Given the description of an element on the screen output the (x, y) to click on. 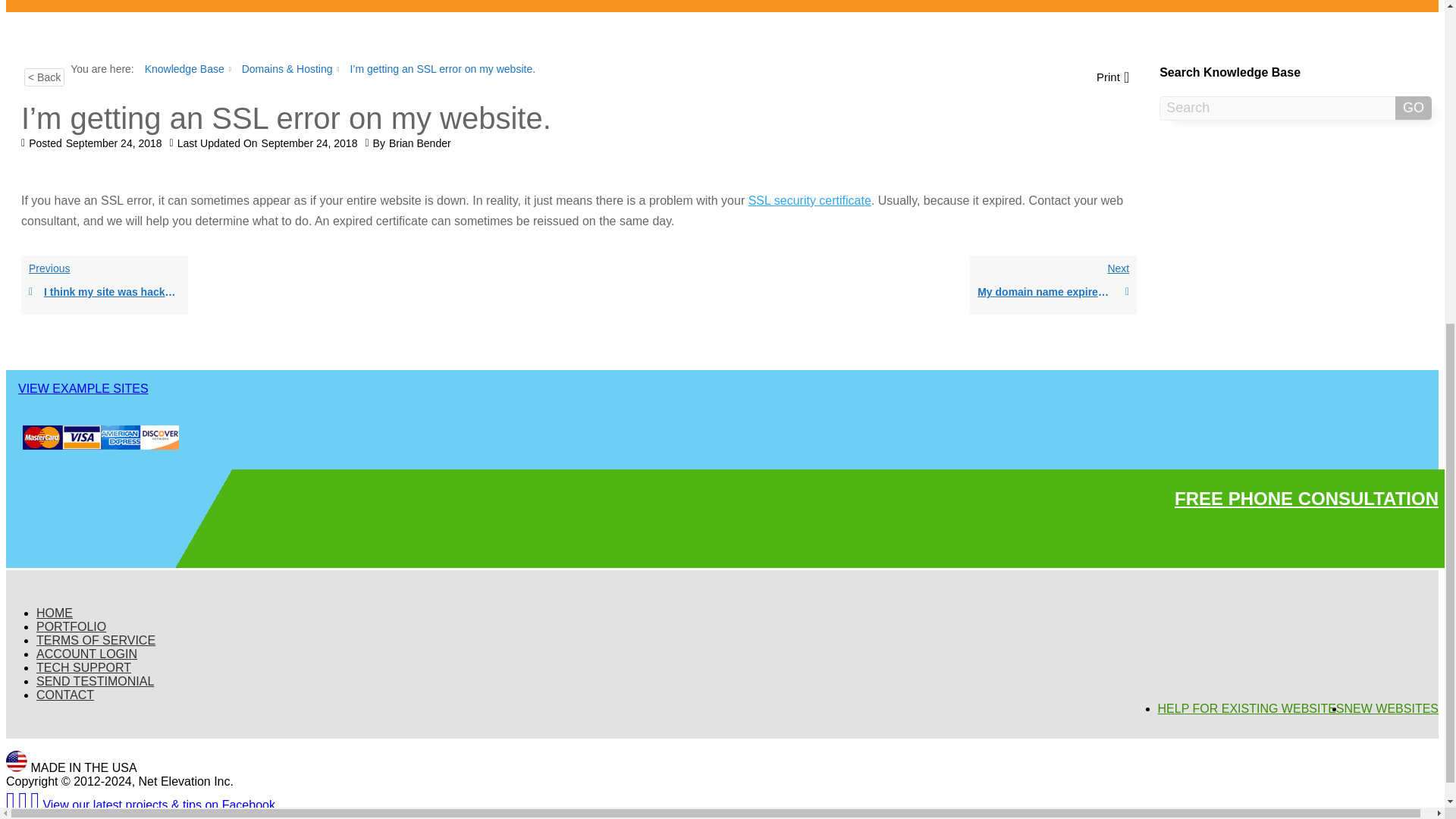
VIEW EXAMPLE SITES (1053, 284)
PORTFOLIO (82, 388)
ACCOUNT LOGIN (71, 626)
SEND TESTIMONIAL (86, 653)
GO (104, 284)
TERMS OF SERVICE (95, 680)
TECH SUPPORT (1412, 107)
NEW WEBSITES (95, 640)
HELP FOR EXISTING WEBSITES (83, 667)
I think my site was hacked. What should I do? (1390, 707)
SSL security certificate (1250, 707)
Knowledge Base (104, 292)
CONTACT (809, 200)
